Given the description of an element on the screen output the (x, y) to click on. 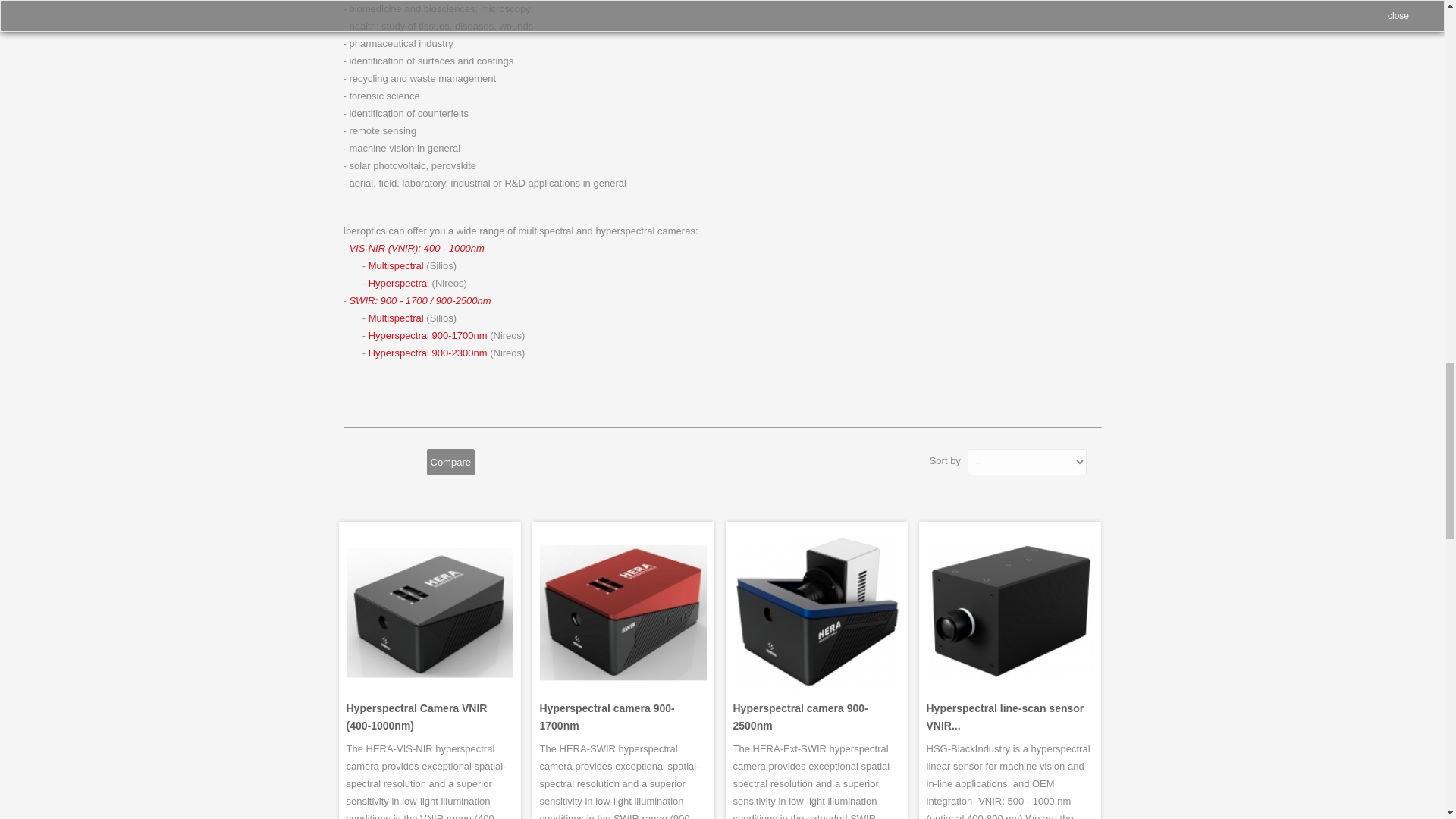
Compare (450, 461)
